Given the description of an element on the screen output the (x, y) to click on. 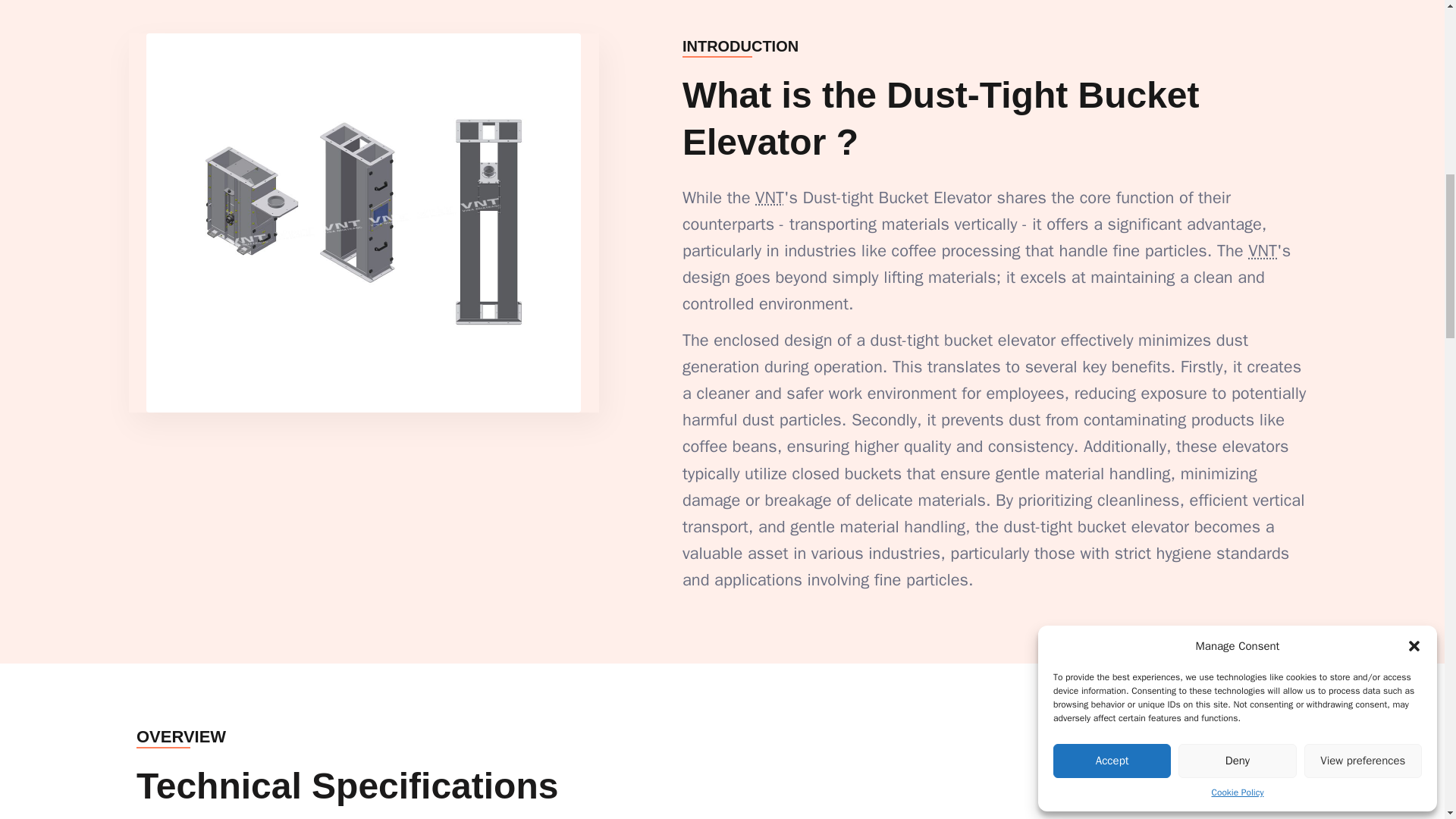
Vina Nha Trang Engineering JSC (1261, 250)
Vina Nha Trang Engineering JSC (769, 197)
